Given the description of an element on the screen output the (x, y) to click on. 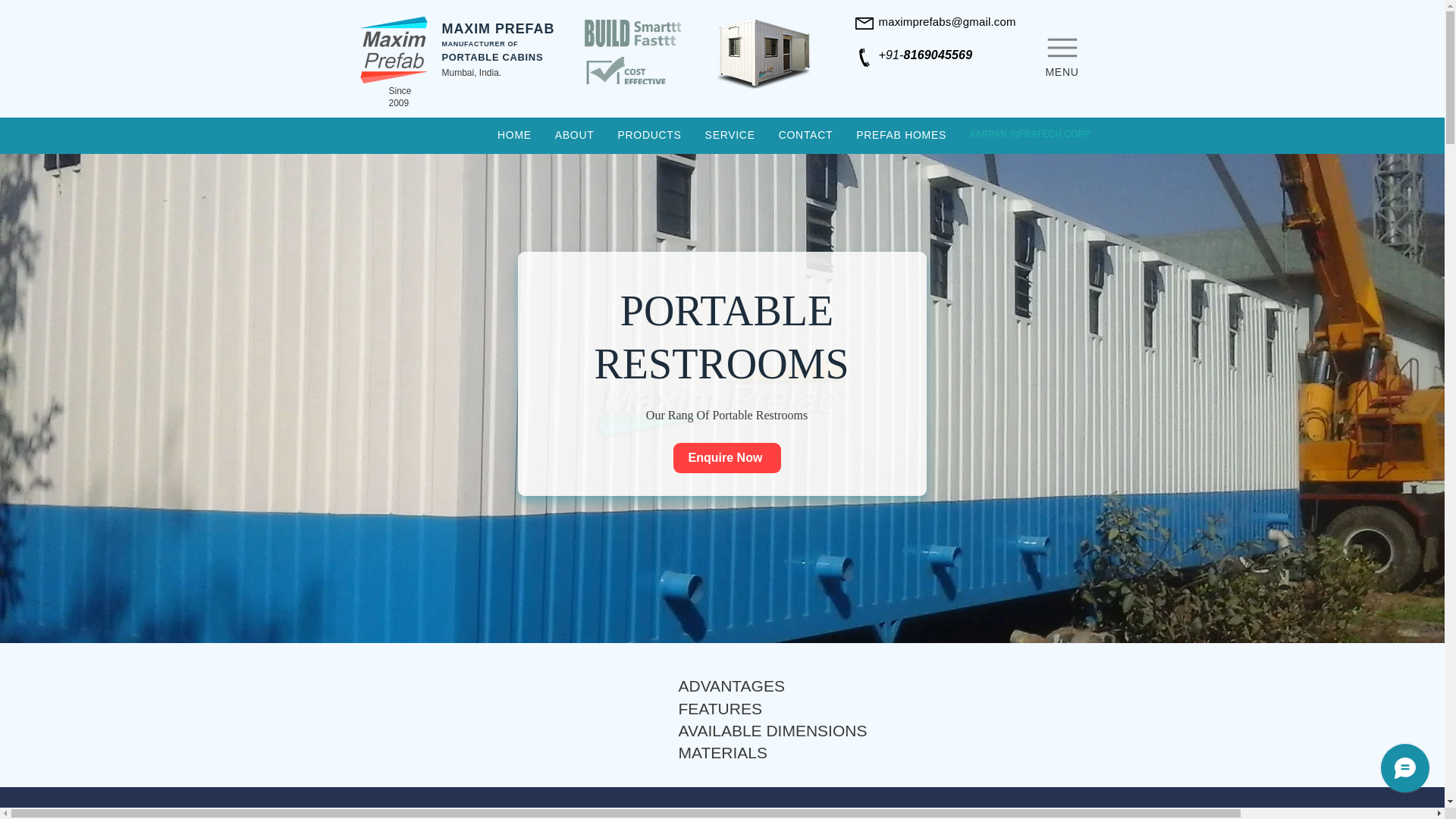
PREFAB HOMES (901, 134)
SERVICE (728, 134)
ABOUT (574, 134)
MENU (1061, 52)
CONTACT (805, 134)
Wix Chat (1408, 771)
HOME (513, 134)
PRODUCTS (649, 134)
